Given the description of an element on the screen output the (x, y) to click on. 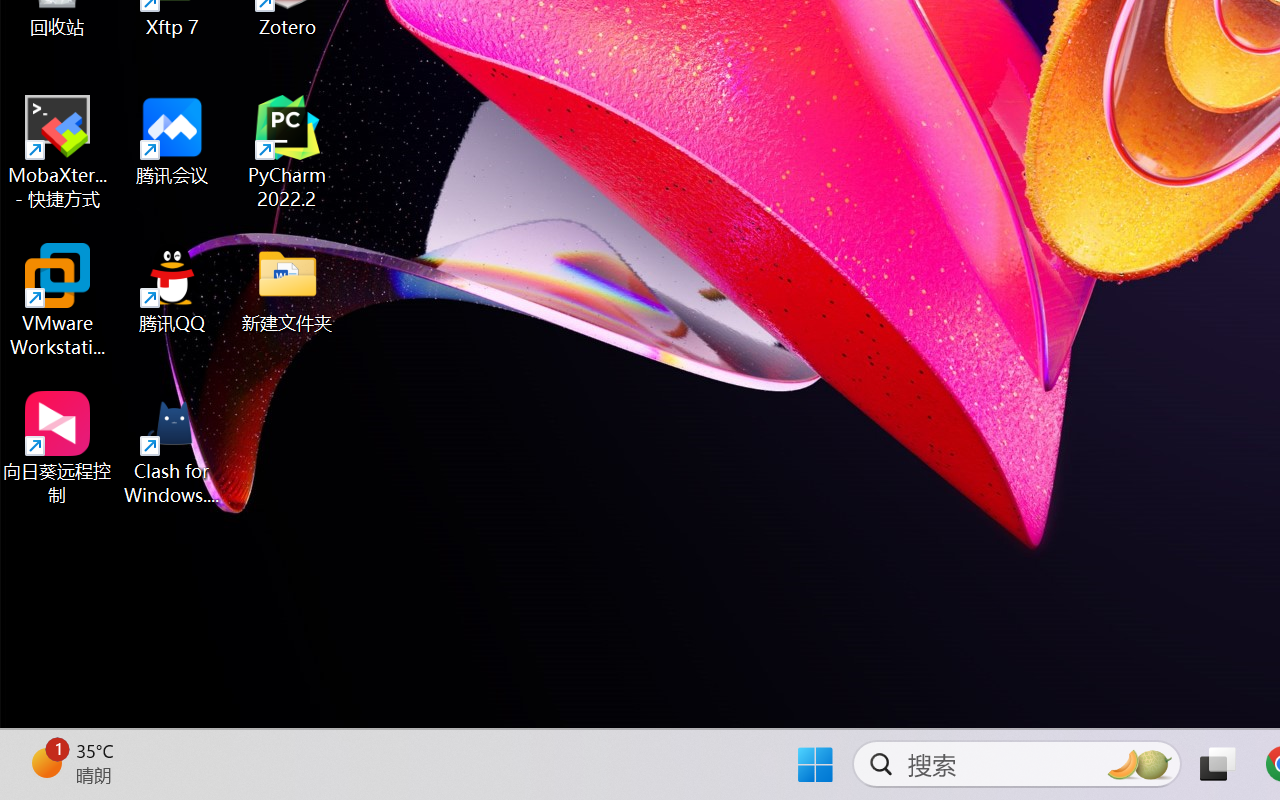
PyCharm 2022.2 (287, 152)
VMware Workstation Pro (57, 300)
